Given the description of an element on the screen output the (x, y) to click on. 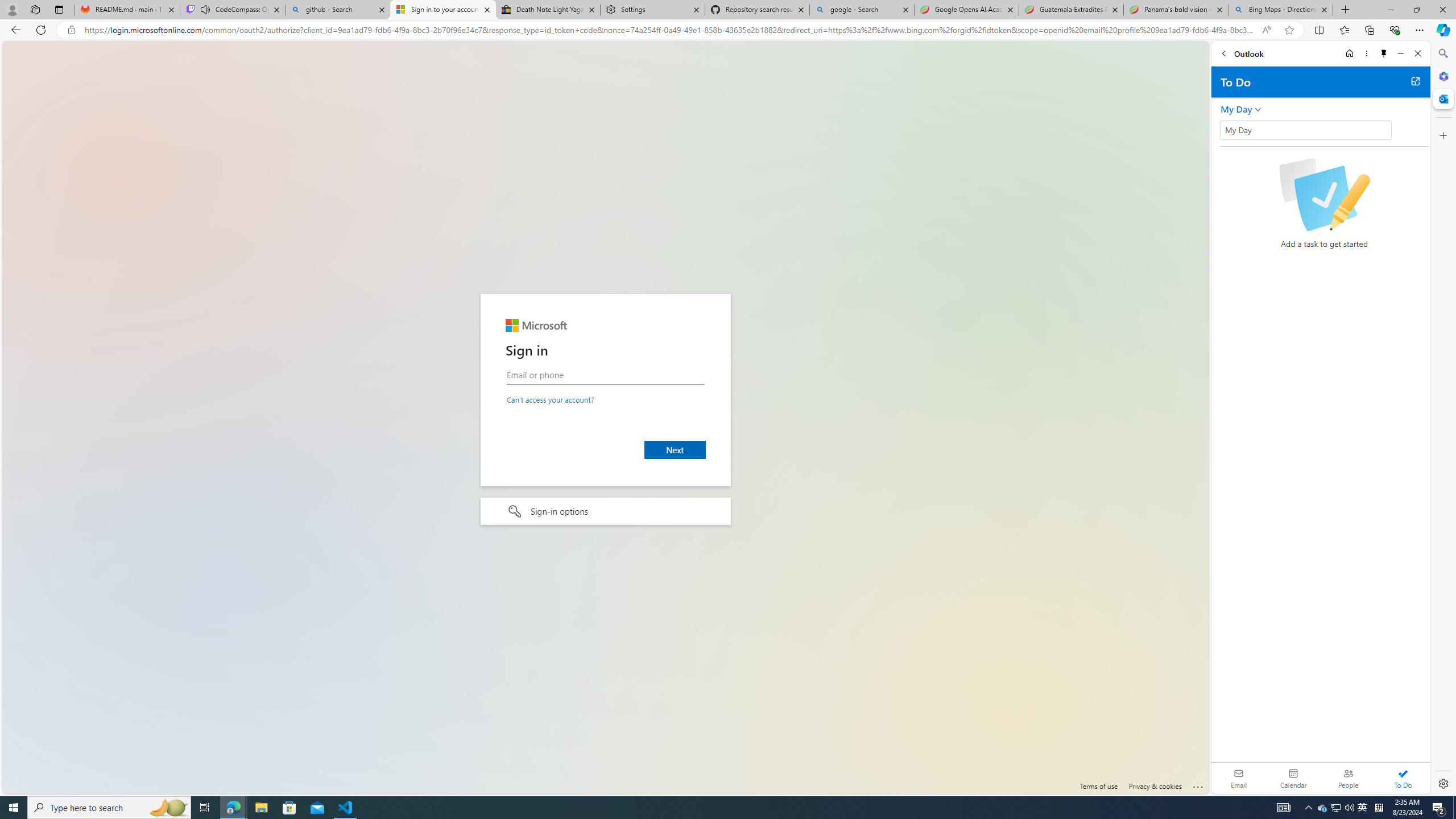
Add a task (1228, 133)
Organization background image (605, 416)
Click here for troubleshooting information (1198, 784)
Sign in to your account (442, 9)
Email (1238, 777)
